Given the description of an element on the screen output the (x, y) to click on. 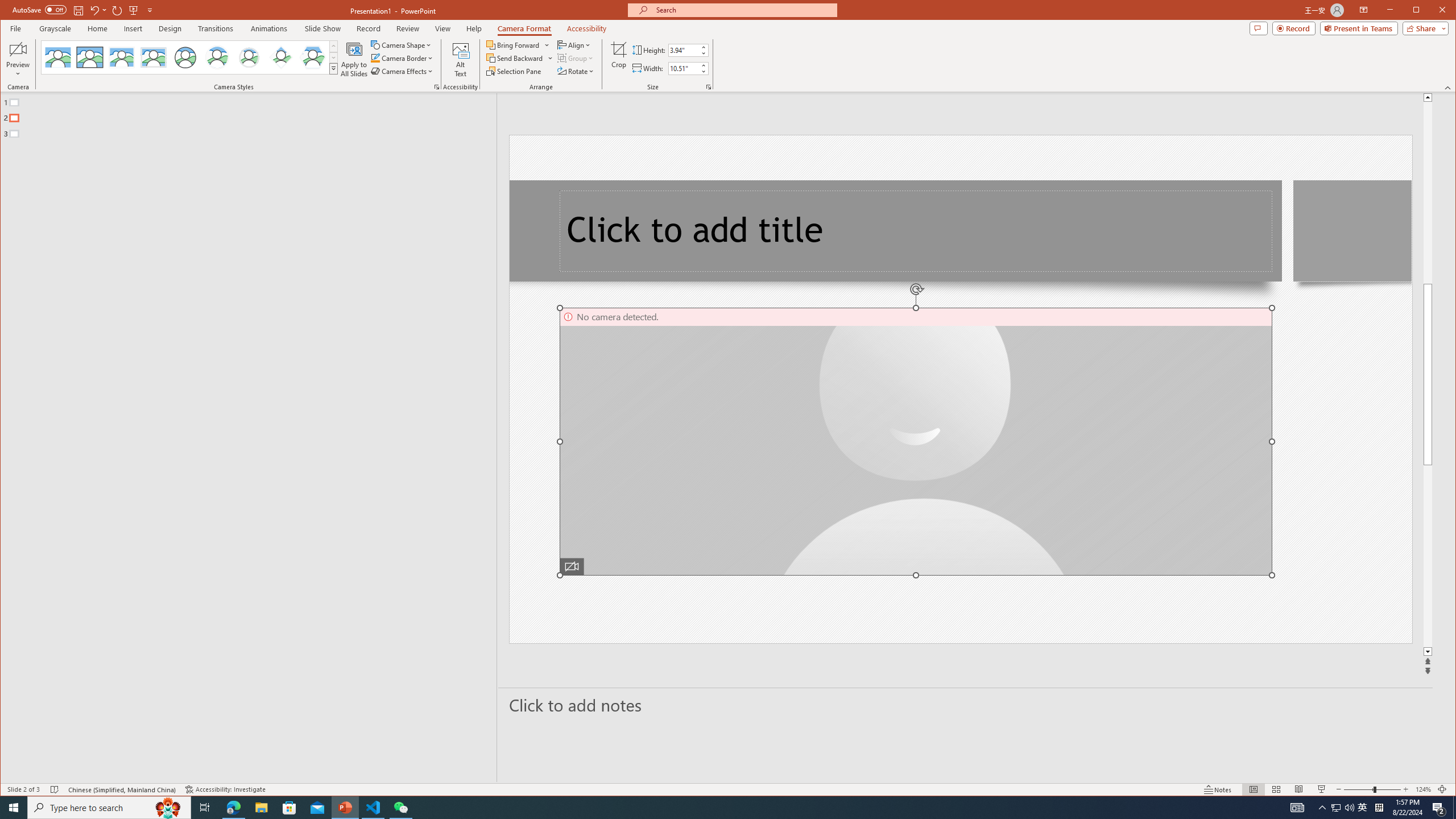
Line up (1427, 96)
Zoom 124% (1422, 789)
Page up (1427, 192)
Share (1422, 27)
File Explorer (261, 807)
Transitions (215, 28)
Insert (133, 28)
More Options (551, 57)
Visual Studio Code - 1 running window (373, 807)
Running applications (707, 807)
Group (576, 57)
Reading View (1298, 789)
Center Shadow Hexagon (313, 57)
AutoSave (38, 9)
Tray Input Indicator - Chinese (Simplified, China) (1378, 807)
